Given the description of an element on the screen output the (x, y) to click on. 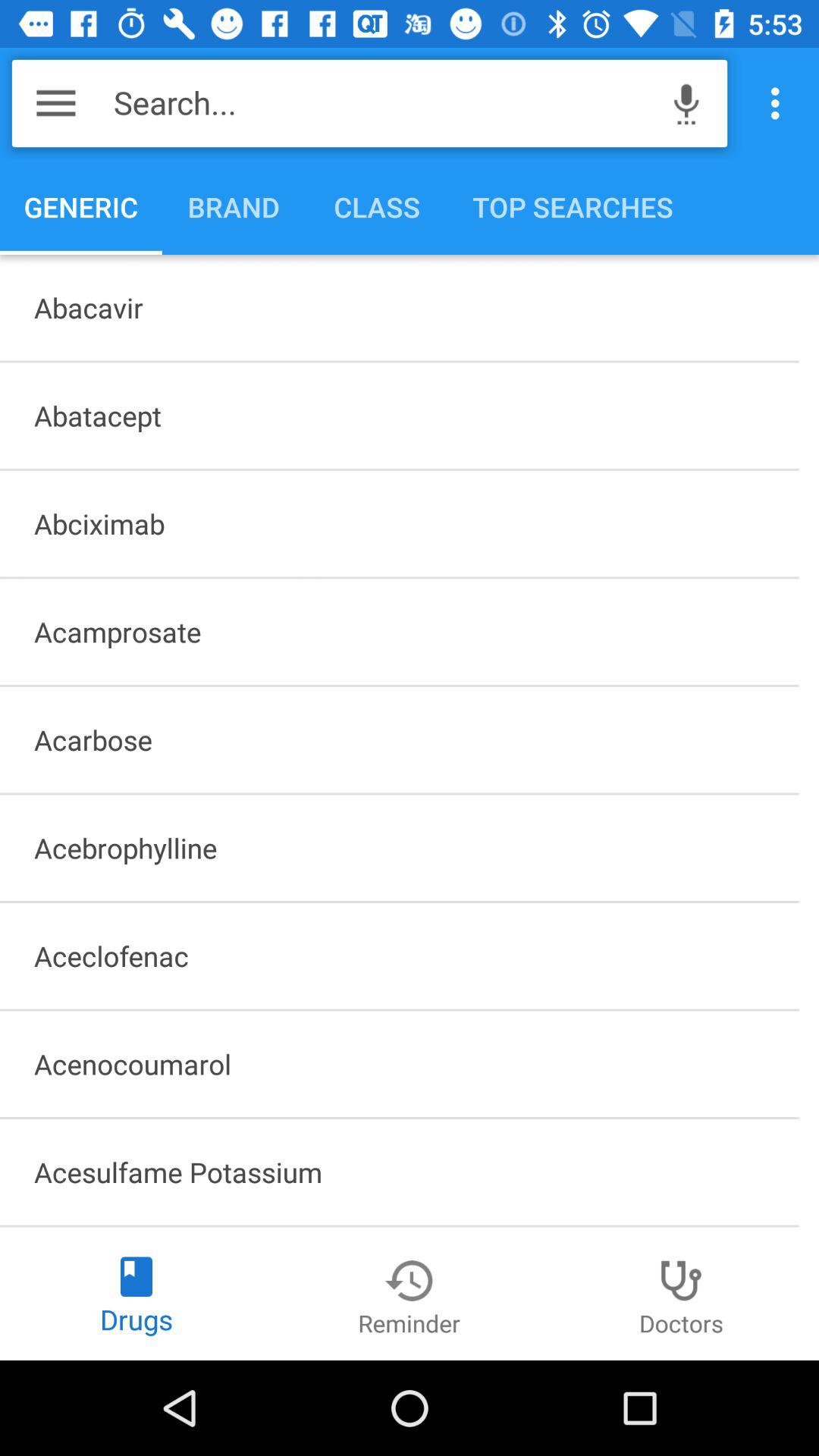
turn off abacavir icon (399, 307)
